Given the description of an element on the screen output the (x, y) to click on. 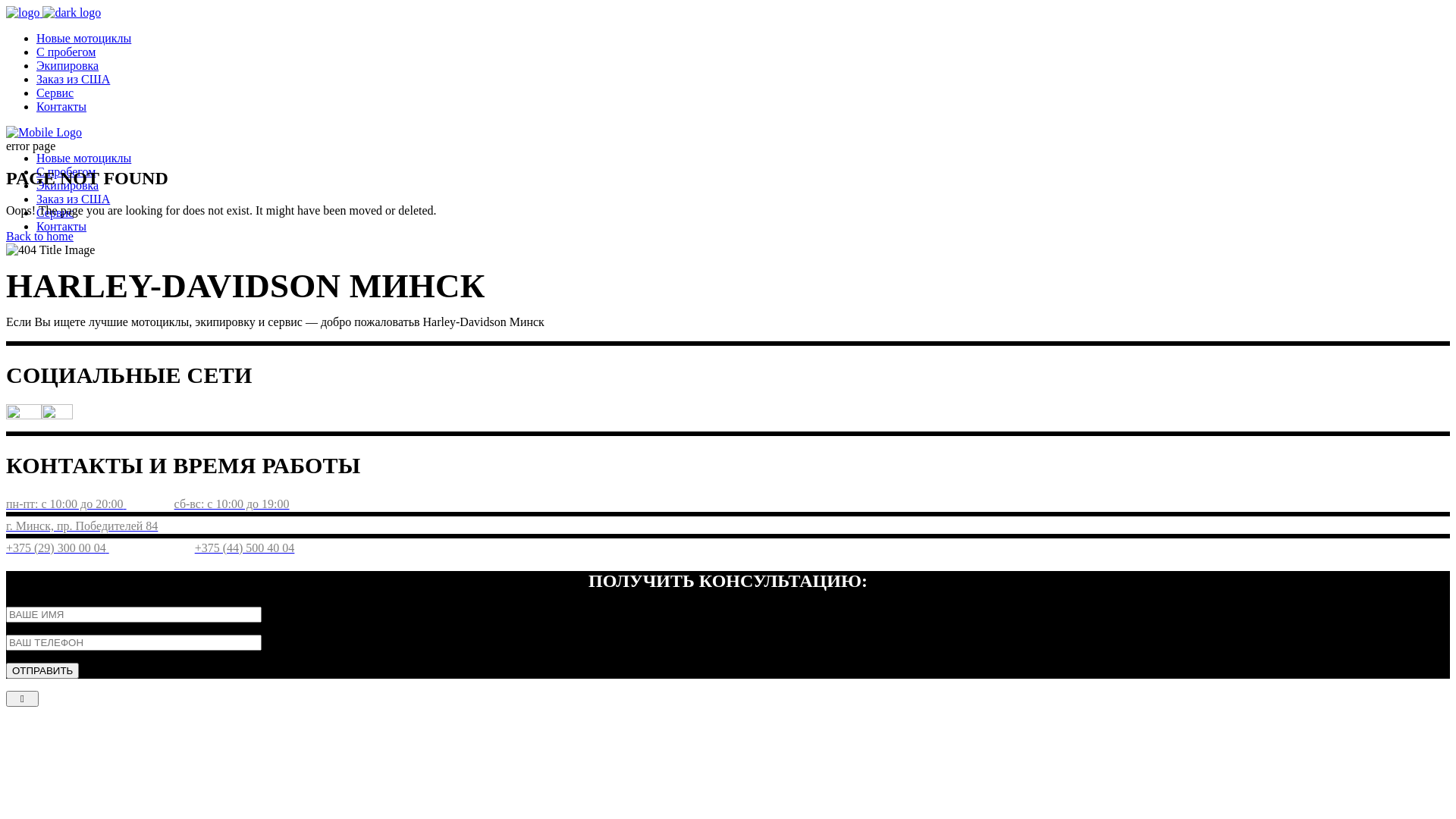
Back to home Element type: text (39, 235)
+375 (29) 300 00 04 Element type: text (57, 547)
+375 (44) 500 40 04 Element type: text (244, 547)
